Given the description of an element on the screen output the (x, y) to click on. 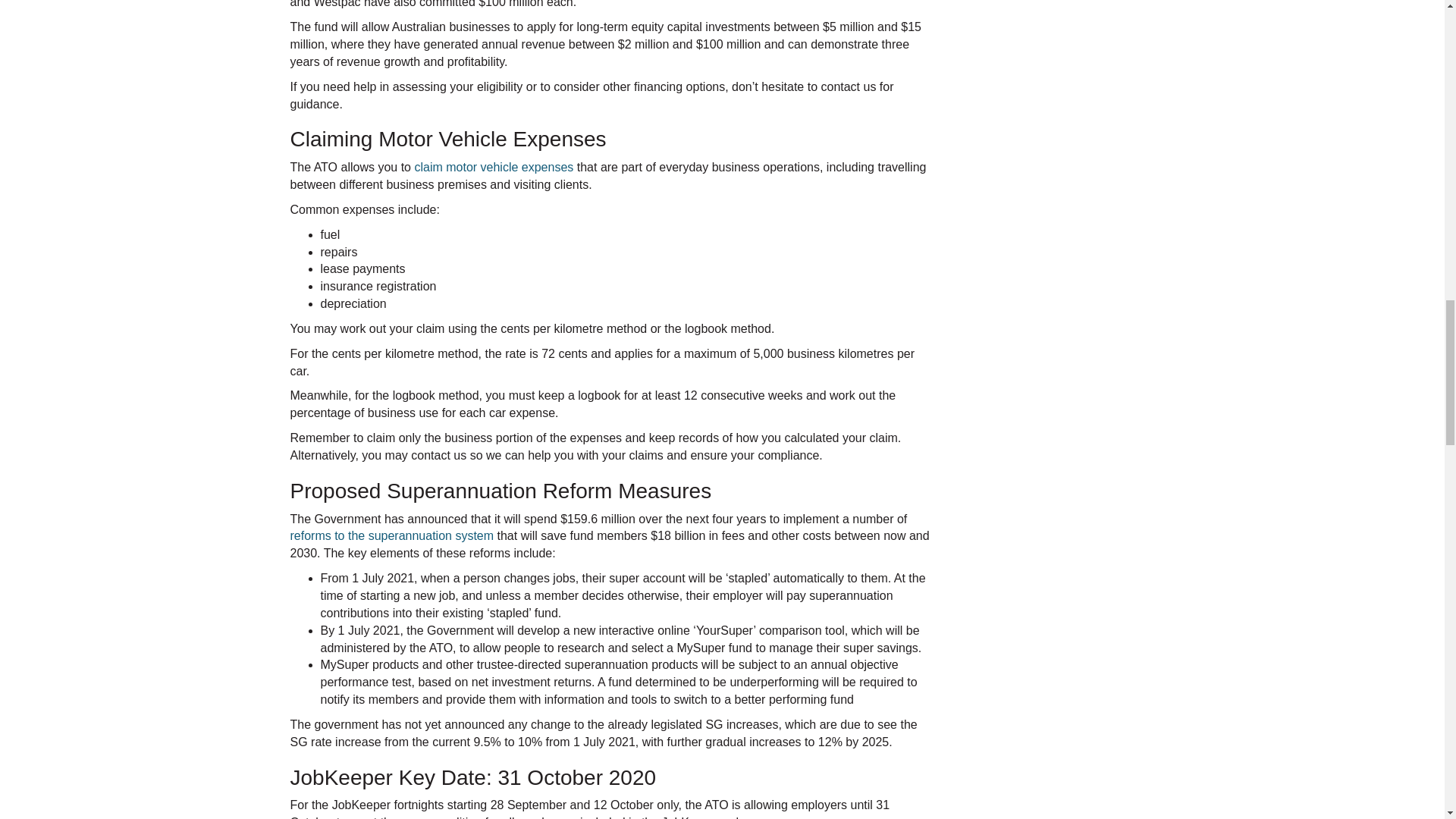
claim motor vehicle expenses (493, 166)
reforms to the superannuation system (391, 535)
